Given the description of an element on the screen output the (x, y) to click on. 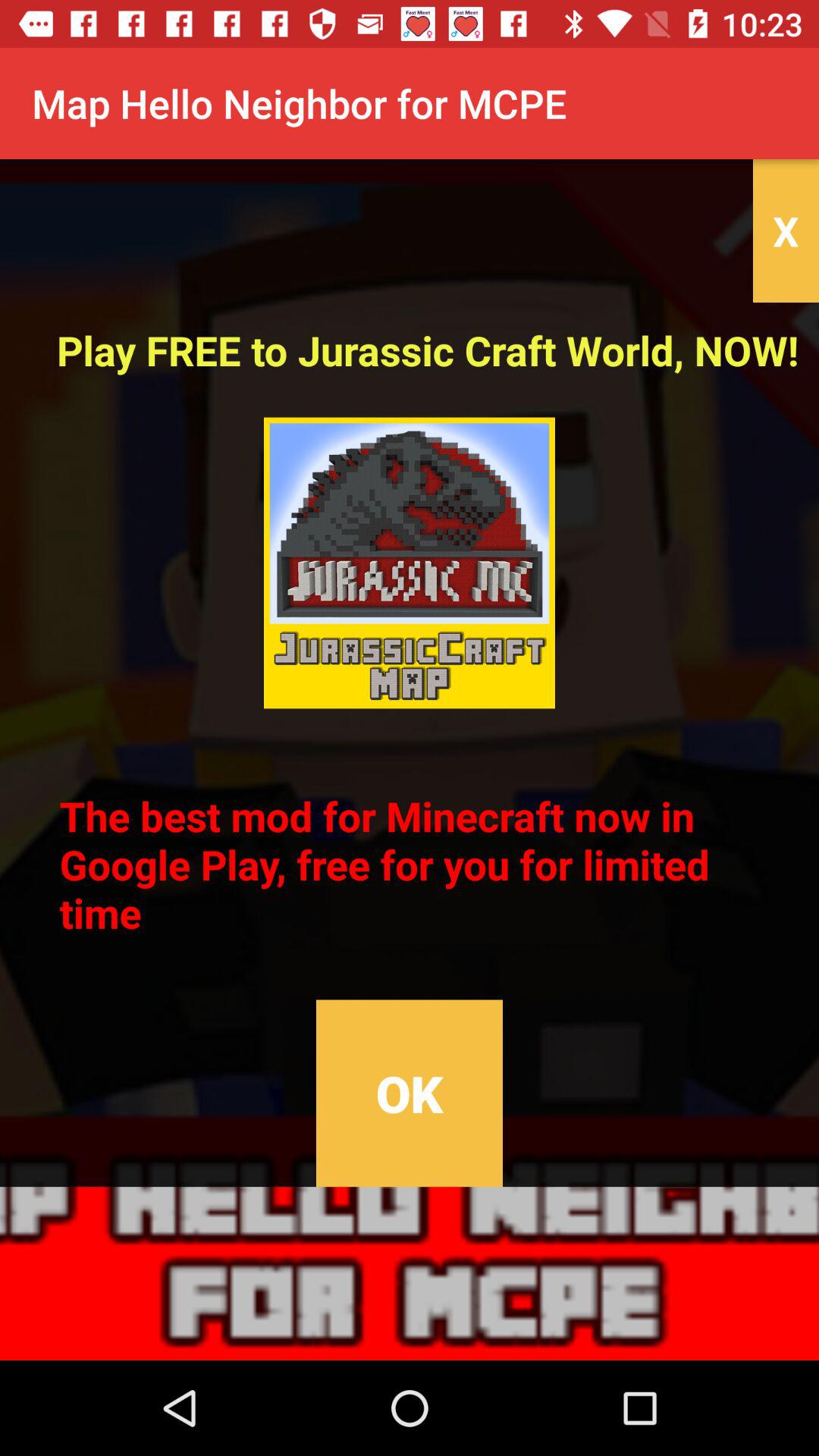
flip until x (786, 230)
